Given the description of an element on the screen output the (x, y) to click on. 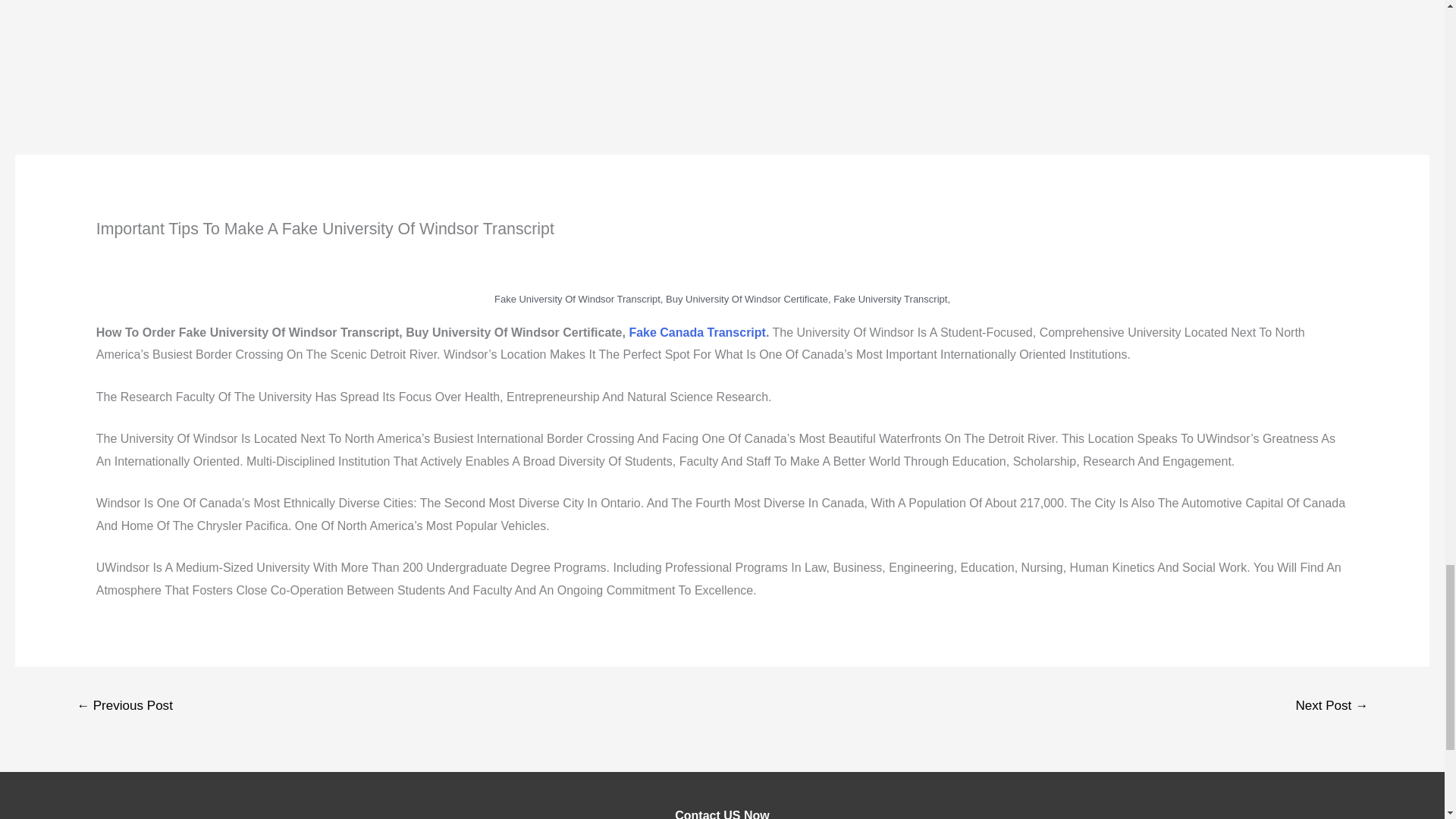
Fake Canada Transcript (696, 332)
